Given the description of an element on the screen output the (x, y) to click on. 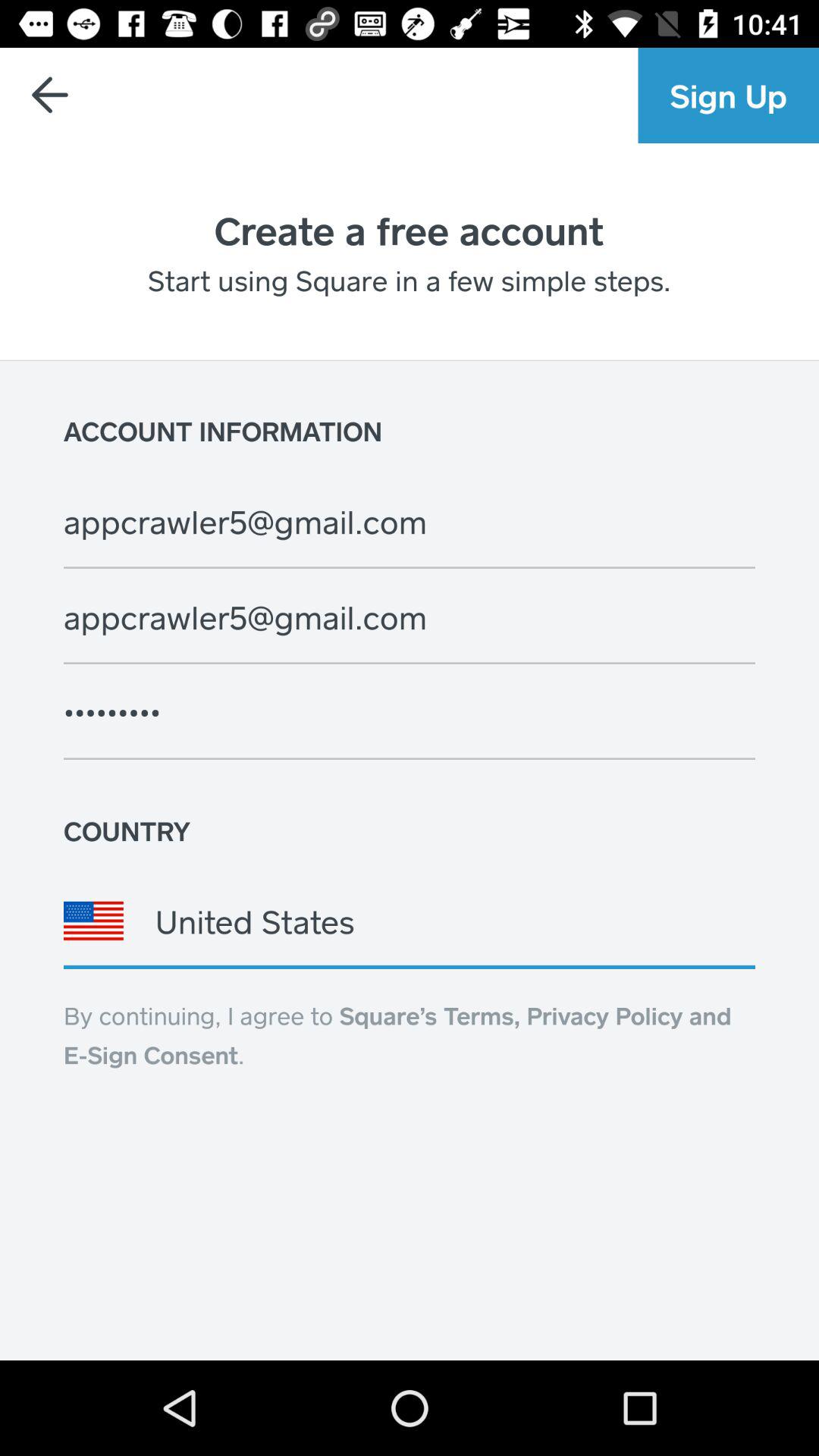
choose icon below appcrawler5@gmail.com item (409, 712)
